Given the description of an element on the screen output the (x, y) to click on. 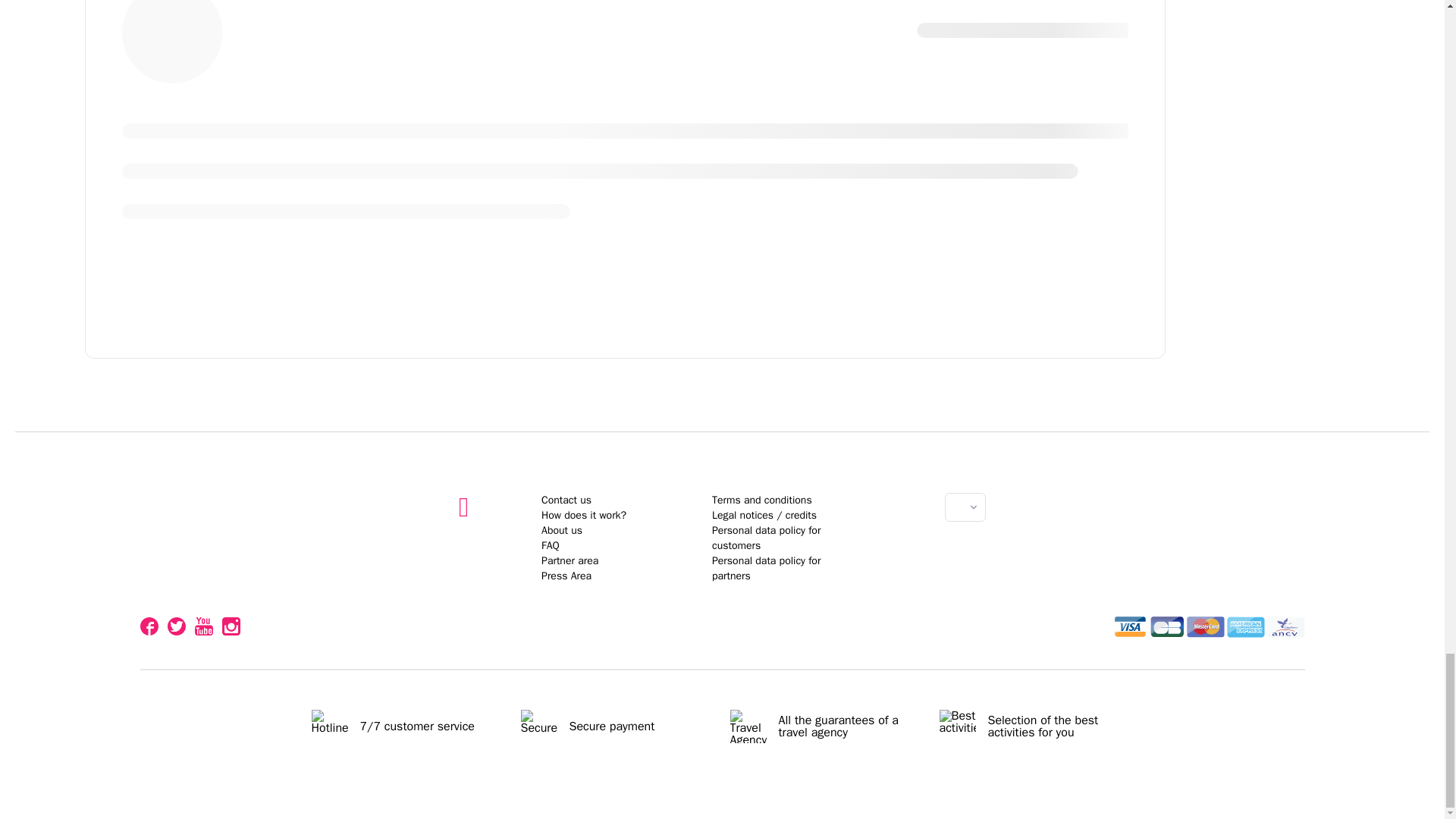
How does it work? (583, 514)
FAQ (550, 545)
About us (561, 530)
Partner area (569, 560)
Contact us (566, 499)
Terms and conditions (761, 499)
Press Area (721, 613)
